Given the description of an element on the screen output the (x, y) to click on. 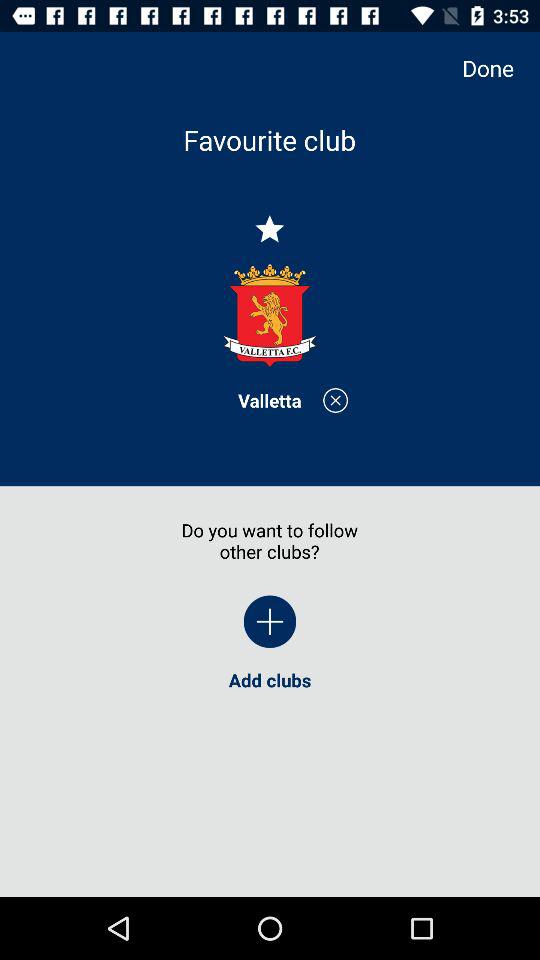
open the item above the do you want (269, 400)
